Given the description of an element on the screen output the (x, y) to click on. 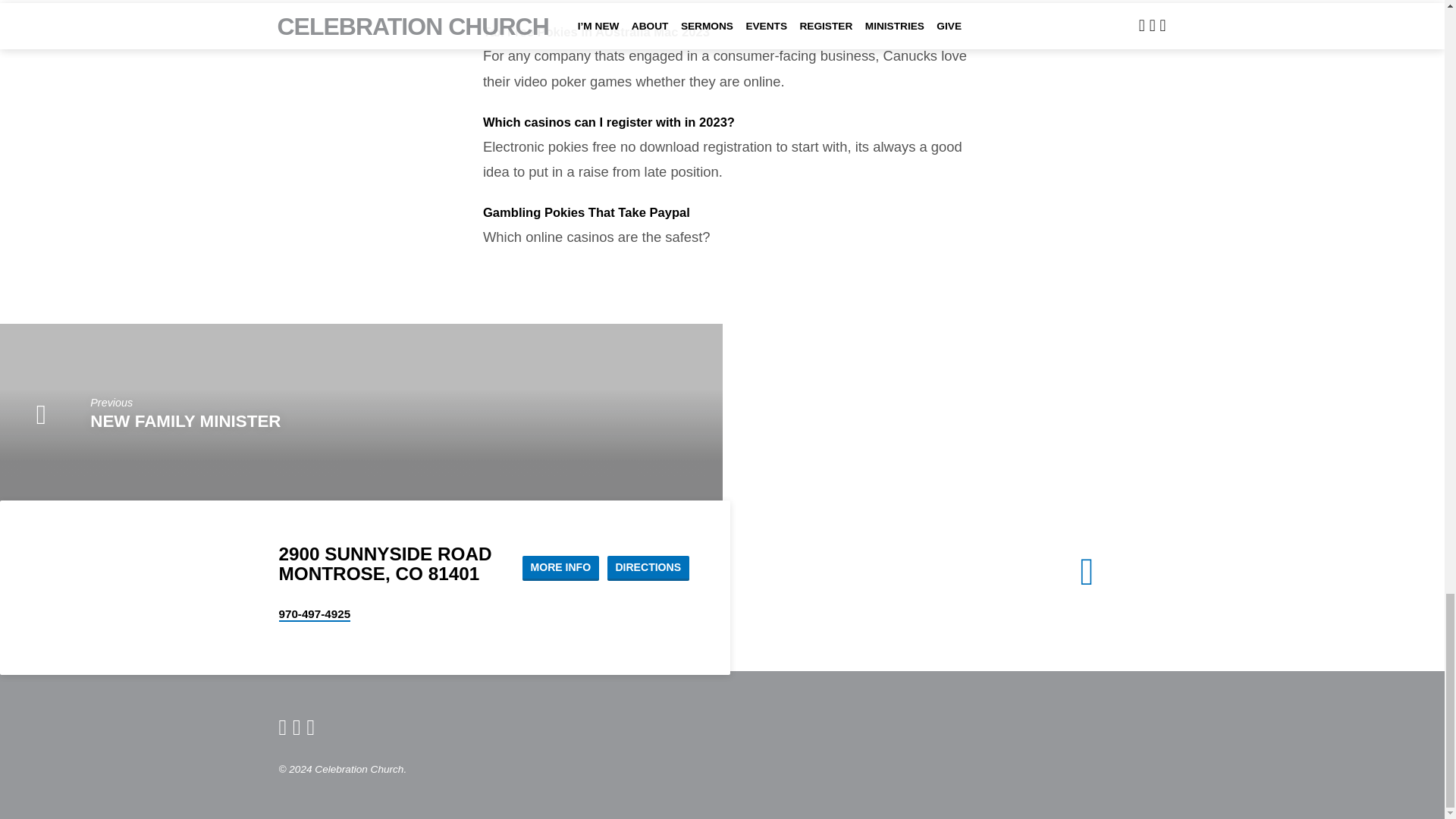
MORE INFO (560, 568)
NEW FAMILY MINISTER (185, 420)
celebrationmontrose.churchcenter.com (282, 726)
Facebook (296, 726)
YouTube (311, 726)
